Given the description of an element on the screen output the (x, y) to click on. 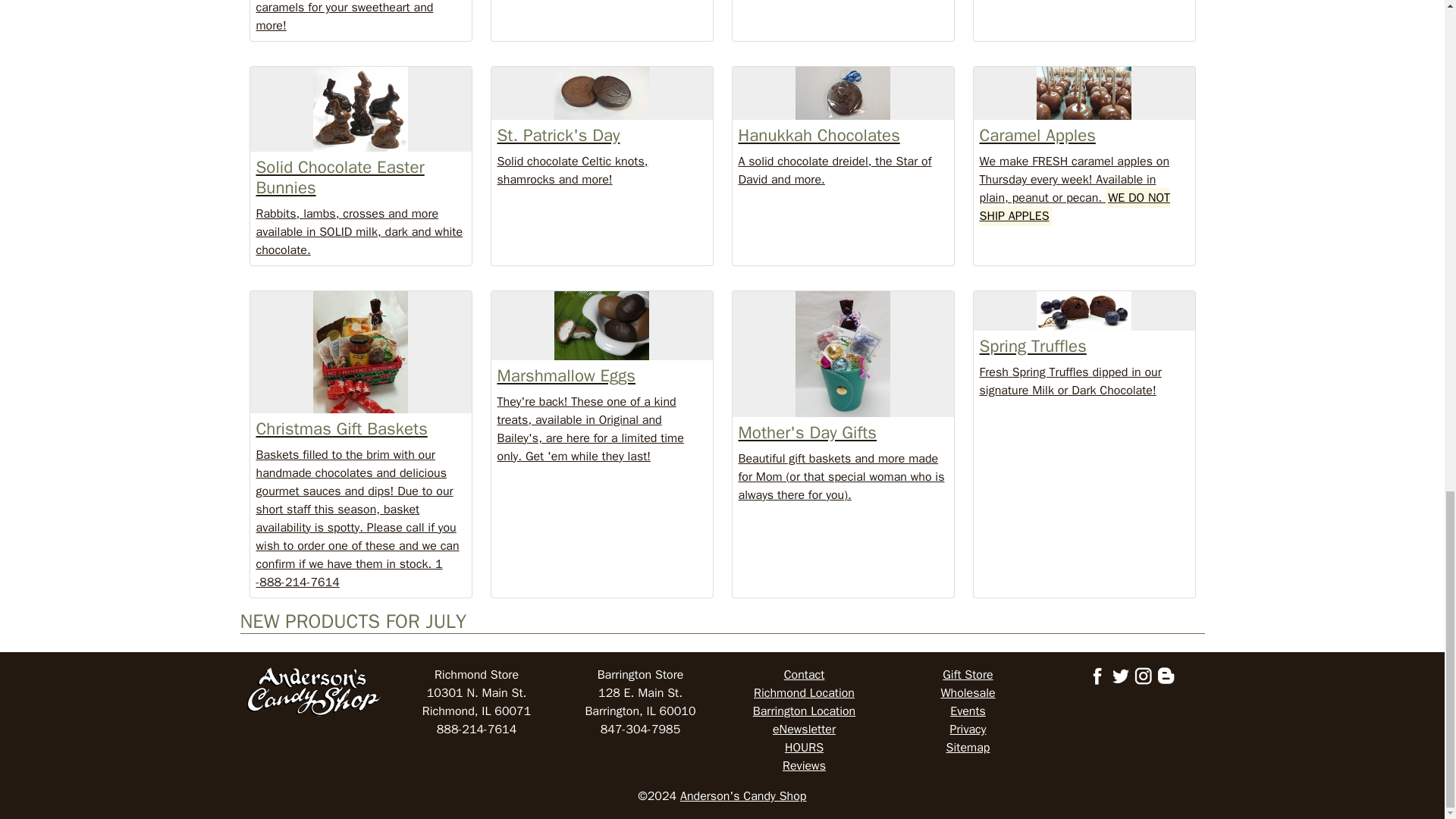
 St. Patrick's Day  (601, 92)
 Hanukkah Chocolates  (841, 92)
 Solid Chocolate Easter Bunnies  (360, 108)
